Given the description of an element on the screen output the (x, y) to click on. 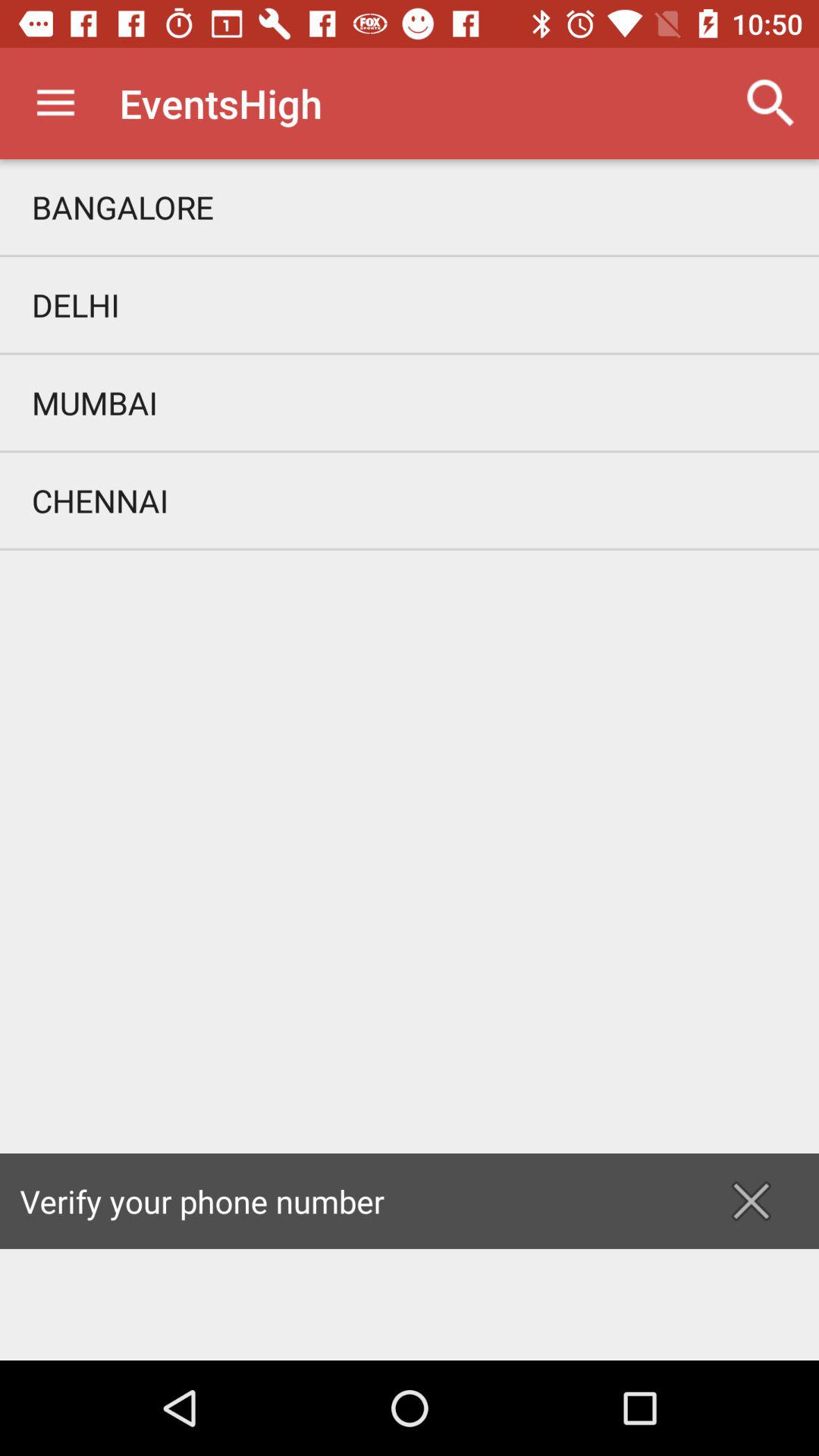
click the item below bangalore icon (409, 304)
